Given the description of an element on the screen output the (x, y) to click on. 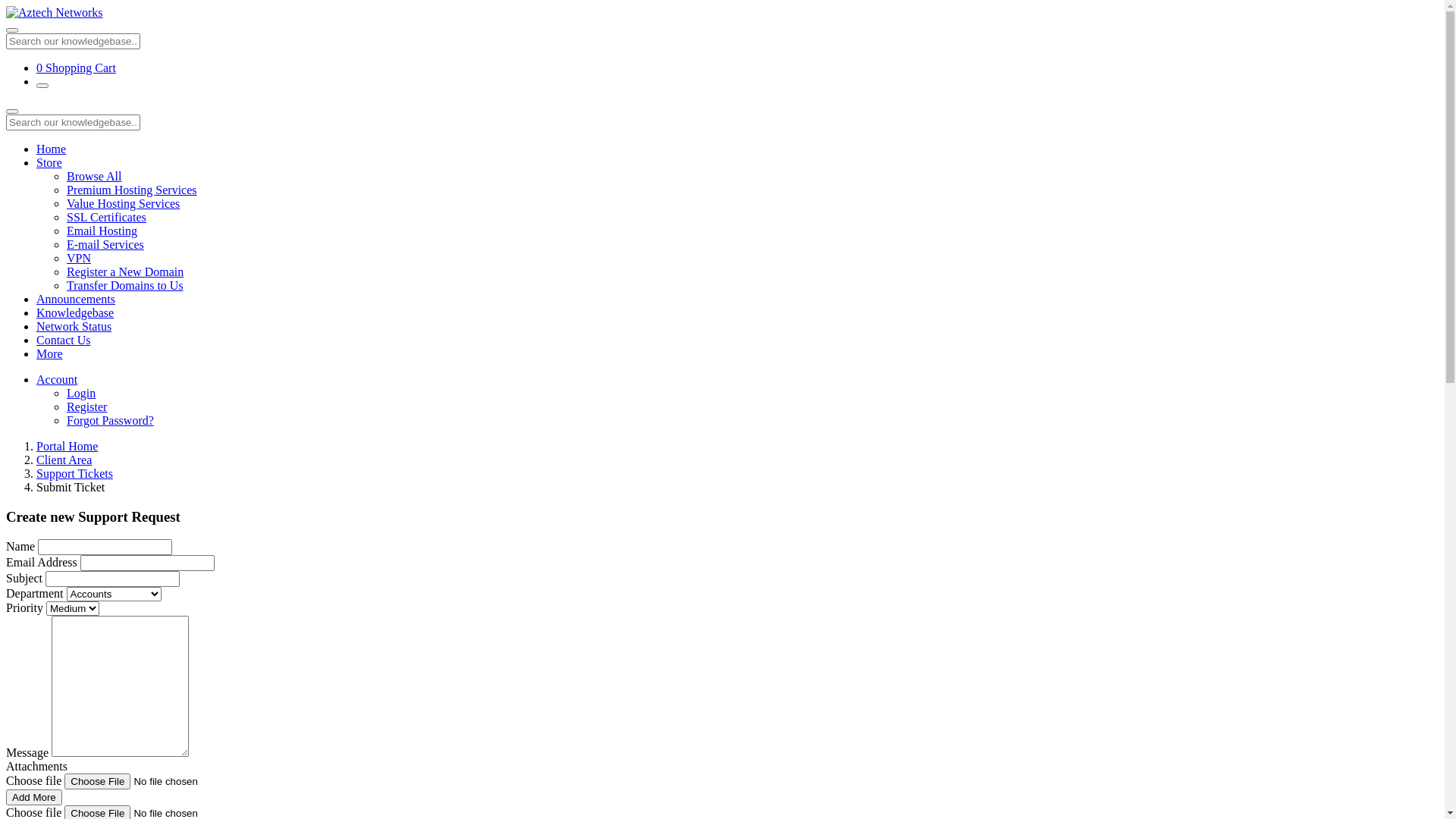
Contact Us Element type: text (63, 339)
Add More Element type: text (34, 797)
Email Hosting Element type: text (101, 230)
Login Element type: text (80, 392)
Account Element type: text (56, 379)
Register a New Domain Element type: text (124, 271)
Register Element type: text (86, 406)
Network Status Element type: text (73, 326)
Browse All Element type: text (93, 175)
Client Area Element type: text (63, 459)
Transfer Domains to Us Element type: text (124, 285)
More Element type: text (49, 353)
Store Element type: text (49, 162)
Portal Home Element type: text (66, 445)
Support Tickets Element type: text (74, 473)
Premium Hosting Services Element type: text (131, 189)
Announcements Element type: text (75, 298)
Home Element type: text (50, 148)
Knowledgebase Element type: text (74, 312)
SSL Certificates Element type: text (106, 216)
0 Shopping Cart Element type: text (76, 67)
Forgot Password? Element type: text (109, 420)
VPN Element type: text (78, 257)
E-mail Services Element type: text (105, 244)
Value Hosting Services Element type: text (122, 203)
